Given the description of an element on the screen output the (x, y) to click on. 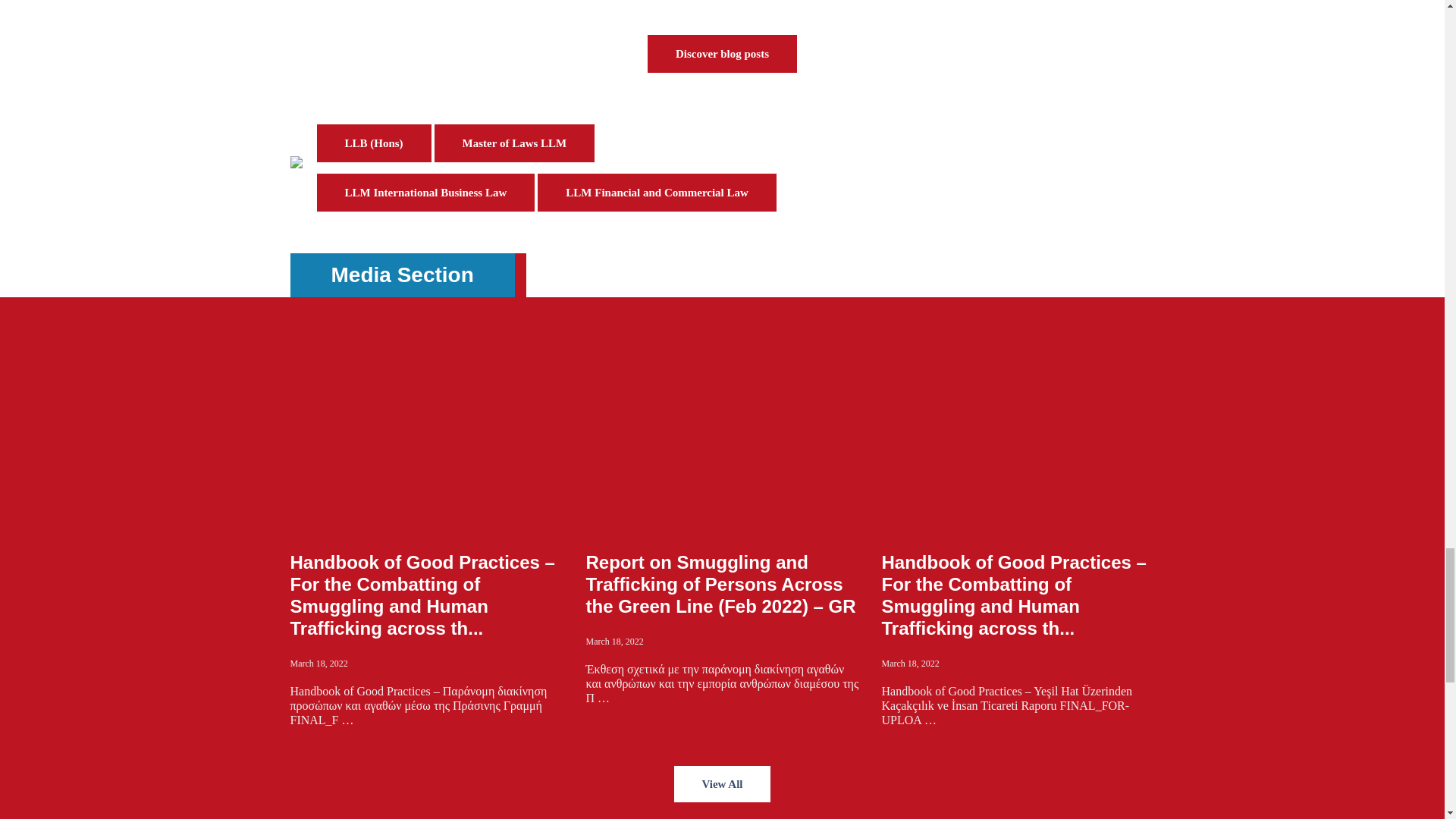
LLM Financial and Commercial Law (656, 192)
Discover blog posts (721, 53)
LLM International Business Law (426, 192)
Master of Laws LLM (514, 143)
